Given the description of an element on the screen output the (x, y) to click on. 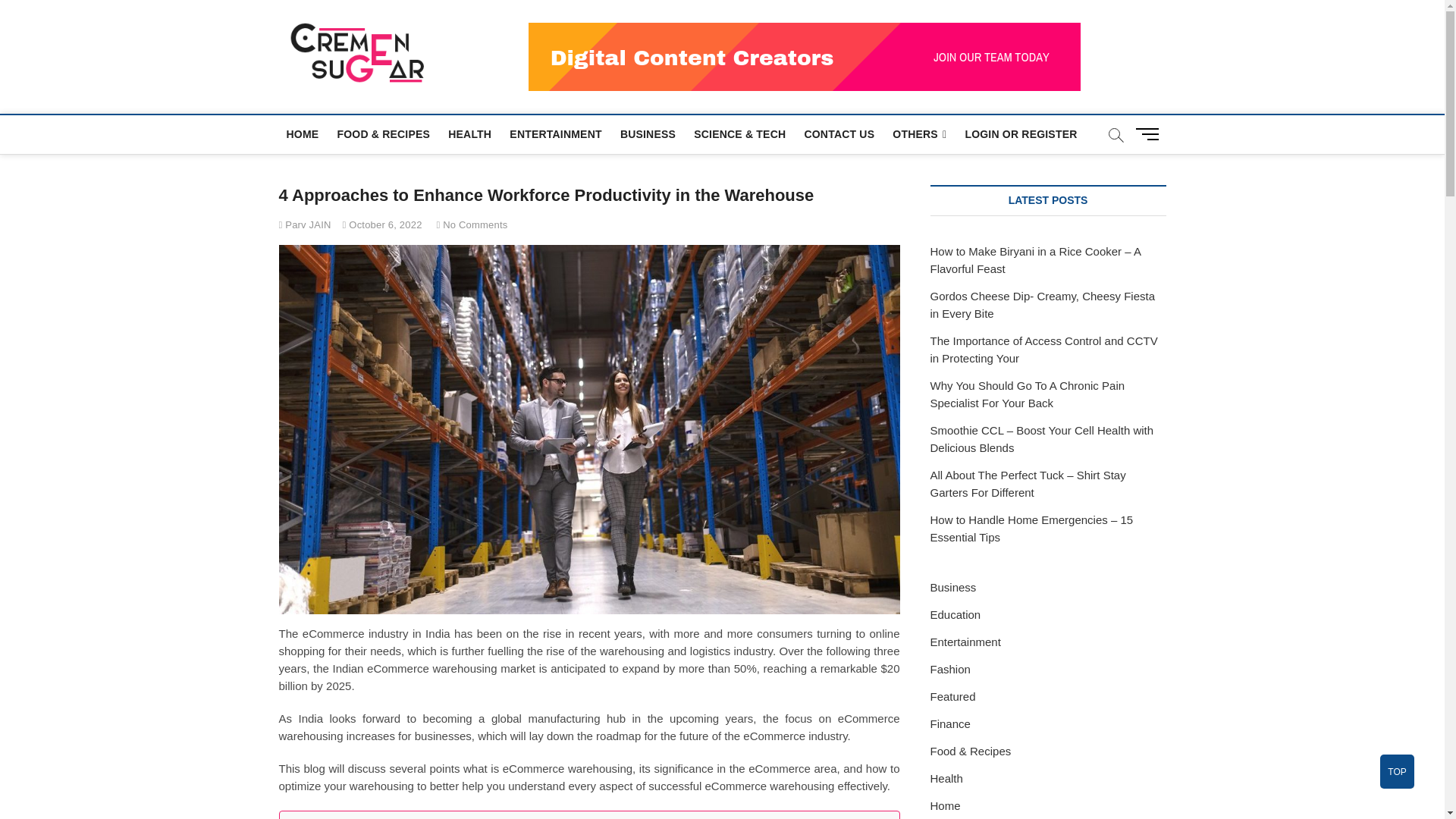
CremeNsugar (520, 50)
CremeNsugar (520, 50)
October 6, 2022 (382, 224)
Menu Button (1150, 133)
HEALTH (470, 134)
ENTERTAINMENT (555, 134)
OTHERS (919, 134)
LOGIN OR REGISTER (1020, 134)
CONTACT US (839, 134)
